Given the description of an element on the screen output the (x, y) to click on. 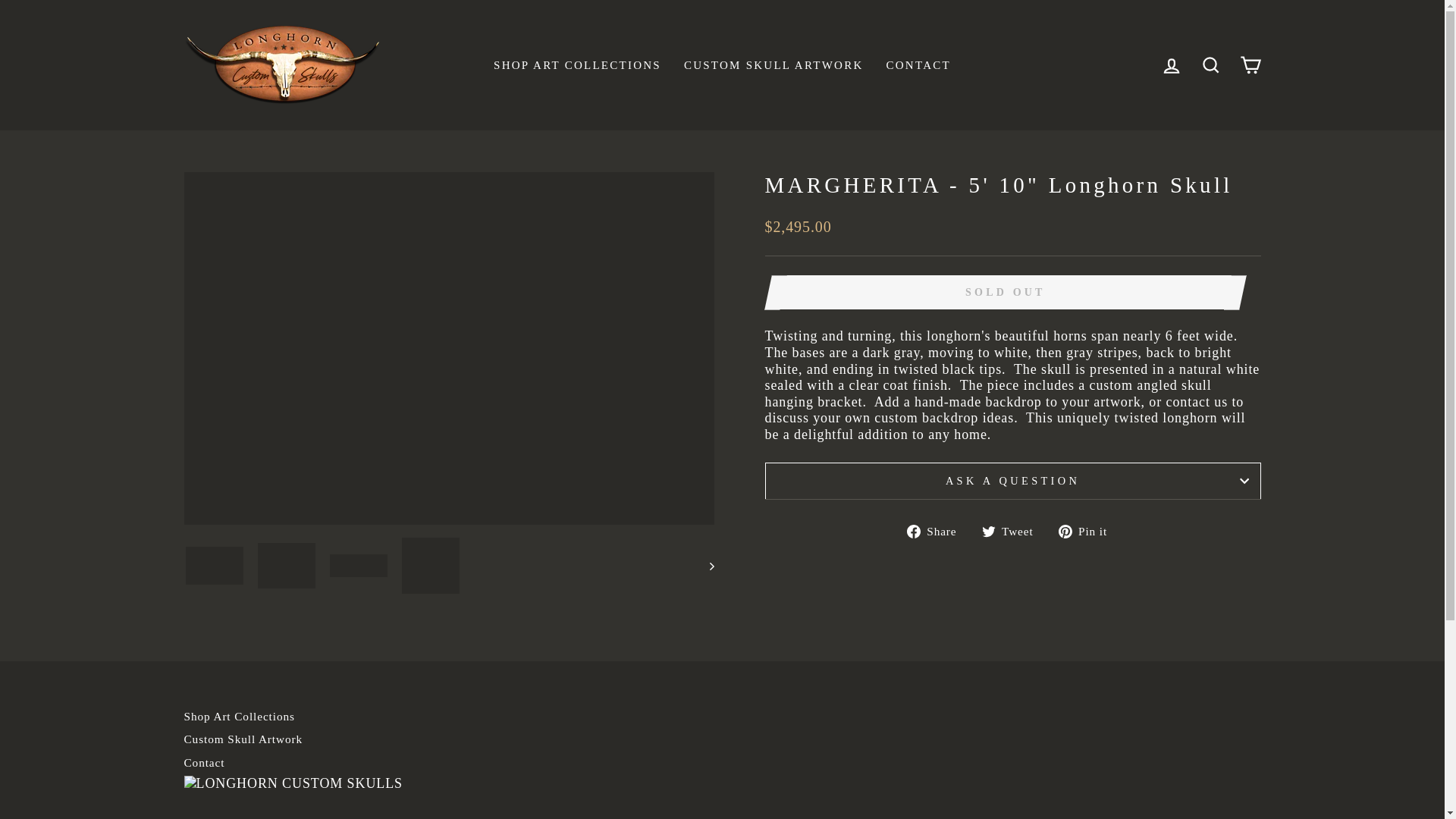
Tweet on Twitter (1013, 530)
Share on Facebook (937, 530)
Pin on Pinterest (1088, 530)
CART (1249, 65)
CONTACT (918, 65)
LOG IN (1171, 65)
SEARCH (1210, 65)
CUSTOM SKULL ARTWORK (773, 65)
SHOP ART COLLECTIONS (576, 65)
